Given the description of an element on the screen output the (x, y) to click on. 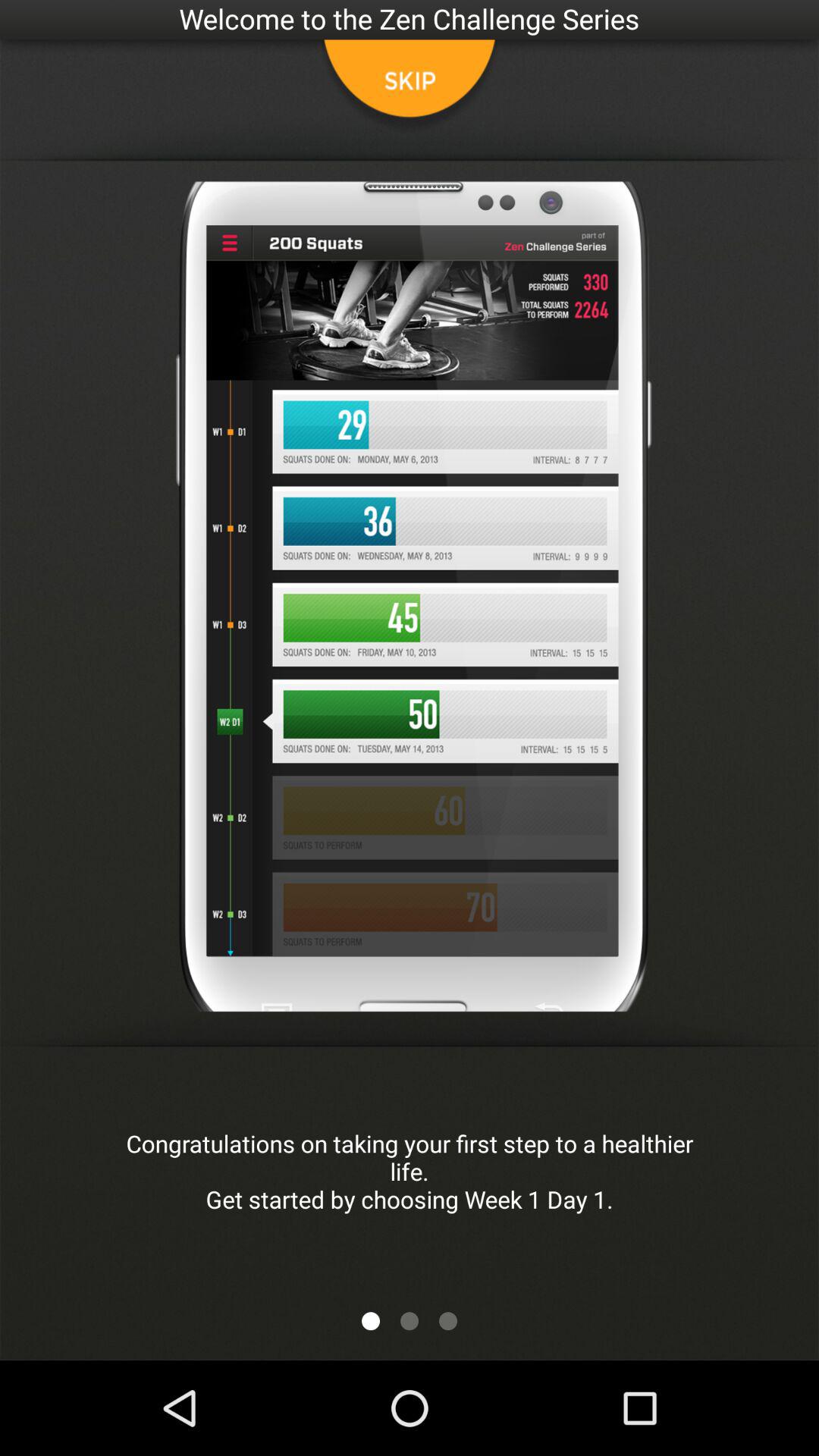
skip the option (409, 87)
